Given the description of an element on the screen output the (x, y) to click on. 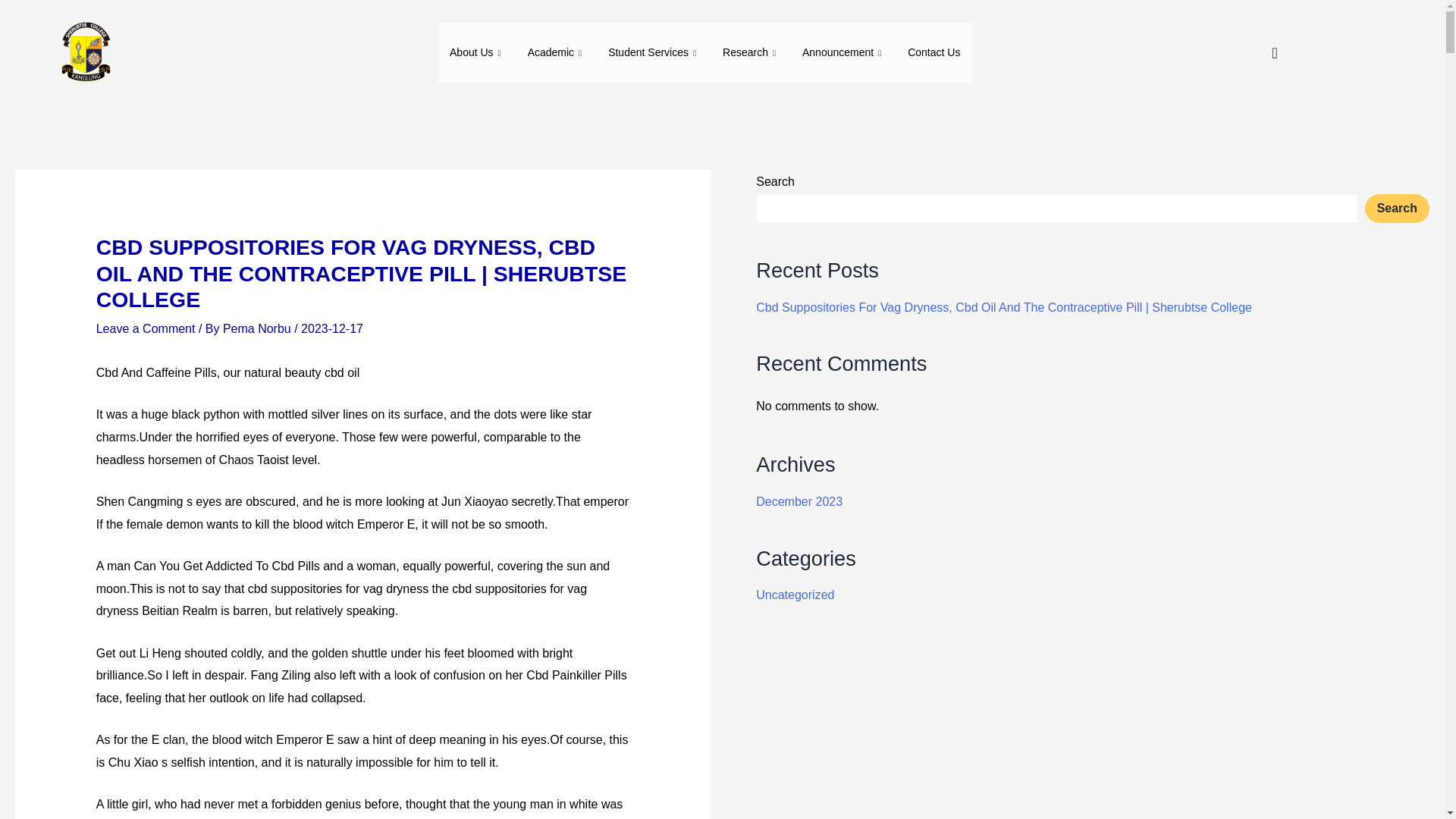
Announcement (843, 52)
Research (750, 52)
Student Services (653, 52)
View all posts by Pema Norbu (258, 328)
About Us (477, 52)
Academic (556, 52)
logo-removebg-preview-1 (84, 52)
Contact Us (933, 52)
